Given the description of an element on the screen output the (x, y) to click on. 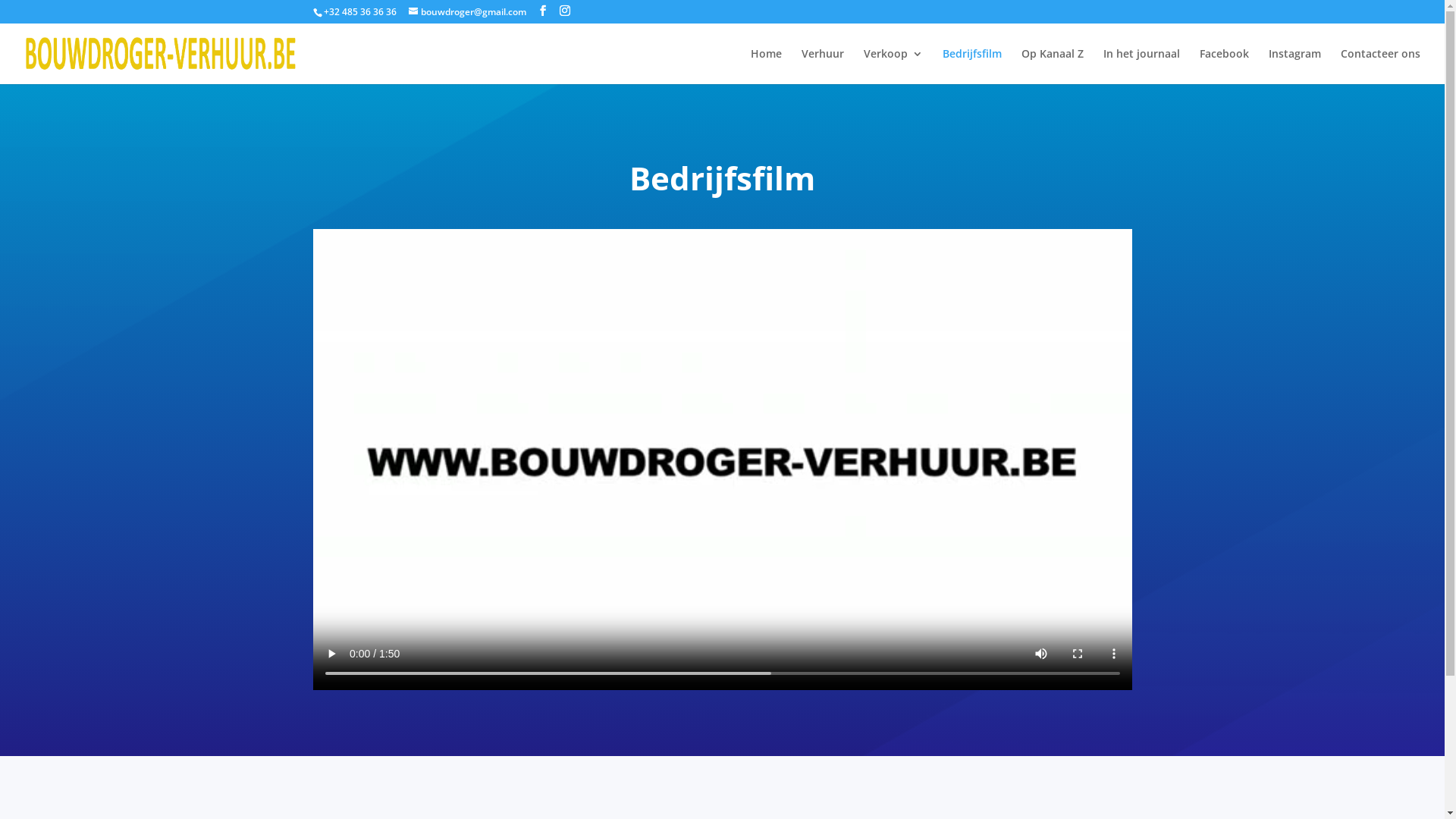
Instagram Element type: text (1294, 66)
Verhuur Element type: text (822, 66)
Verkoop Element type: text (892, 66)
In het journaal Element type: text (1141, 66)
bouwdroger@gmail.com Element type: text (466, 11)
Home Element type: text (765, 66)
Bedrijfsfilm Element type: text (971, 66)
Facebook Element type: text (1223, 66)
Contacteer ons Element type: text (1380, 66)
Op Kanaal Z Element type: text (1052, 66)
